Given the description of an element on the screen output the (x, y) to click on. 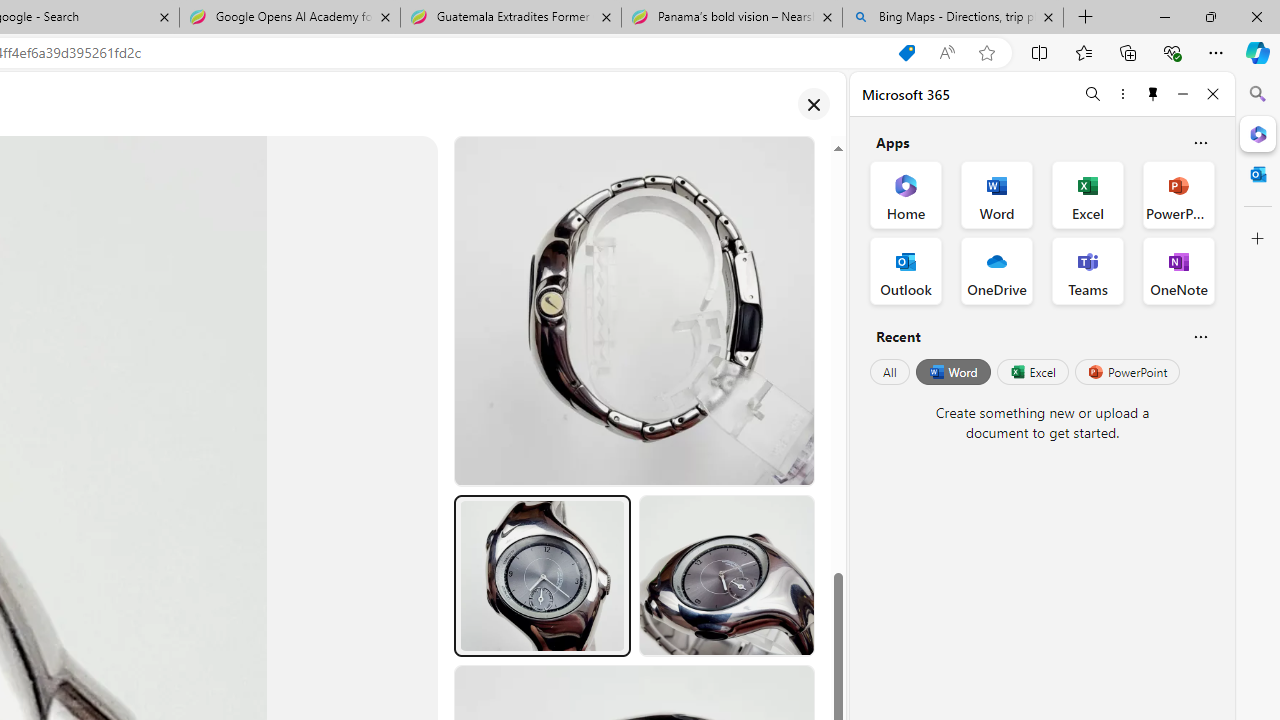
Excel Office App (1087, 194)
All (890, 372)
Excel (1031, 372)
Word Office App (996, 194)
OneNote Office App (1178, 270)
